Given the description of an element on the screen output the (x, y) to click on. 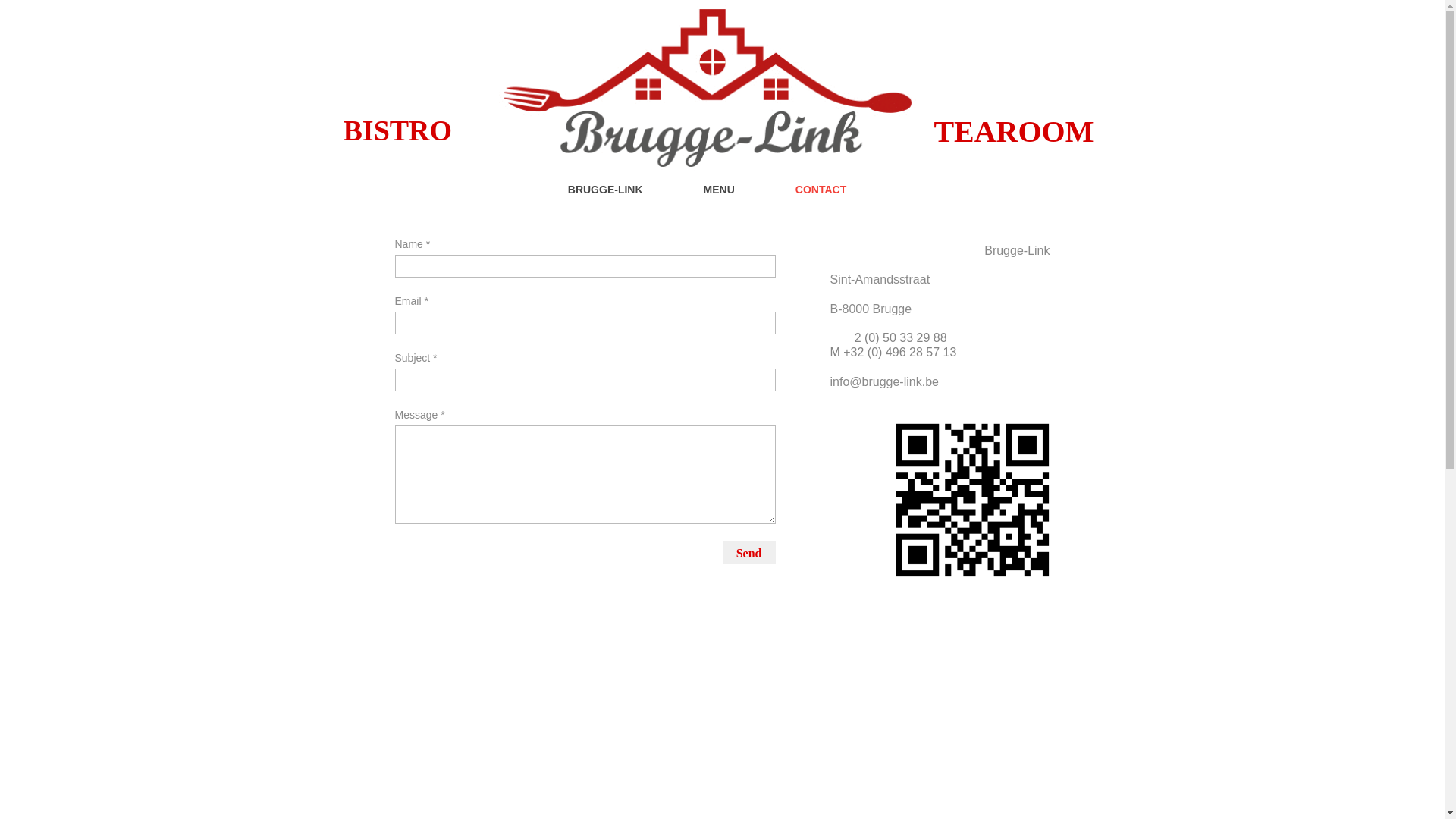
BRUGGE-LINK Element type: text (620, 196)
MENU Element type: text (734, 196)
  Send   Element type: text (748, 552)
CONTACT Element type: text (835, 196)
